Given the description of an element on the screen output the (x, y) to click on. 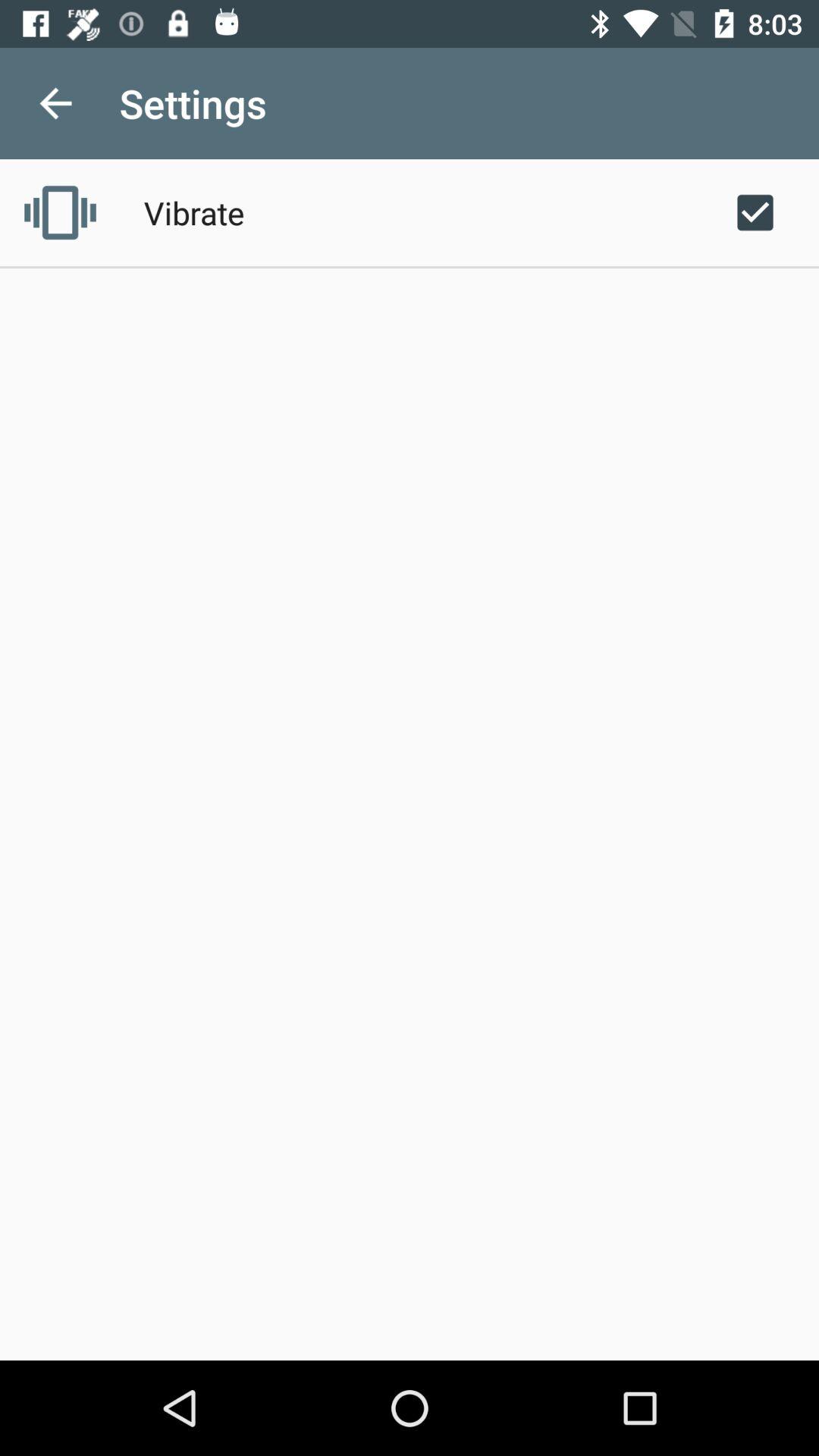
press the app next to settings item (55, 103)
